Given the description of an element on the screen output the (x, y) to click on. 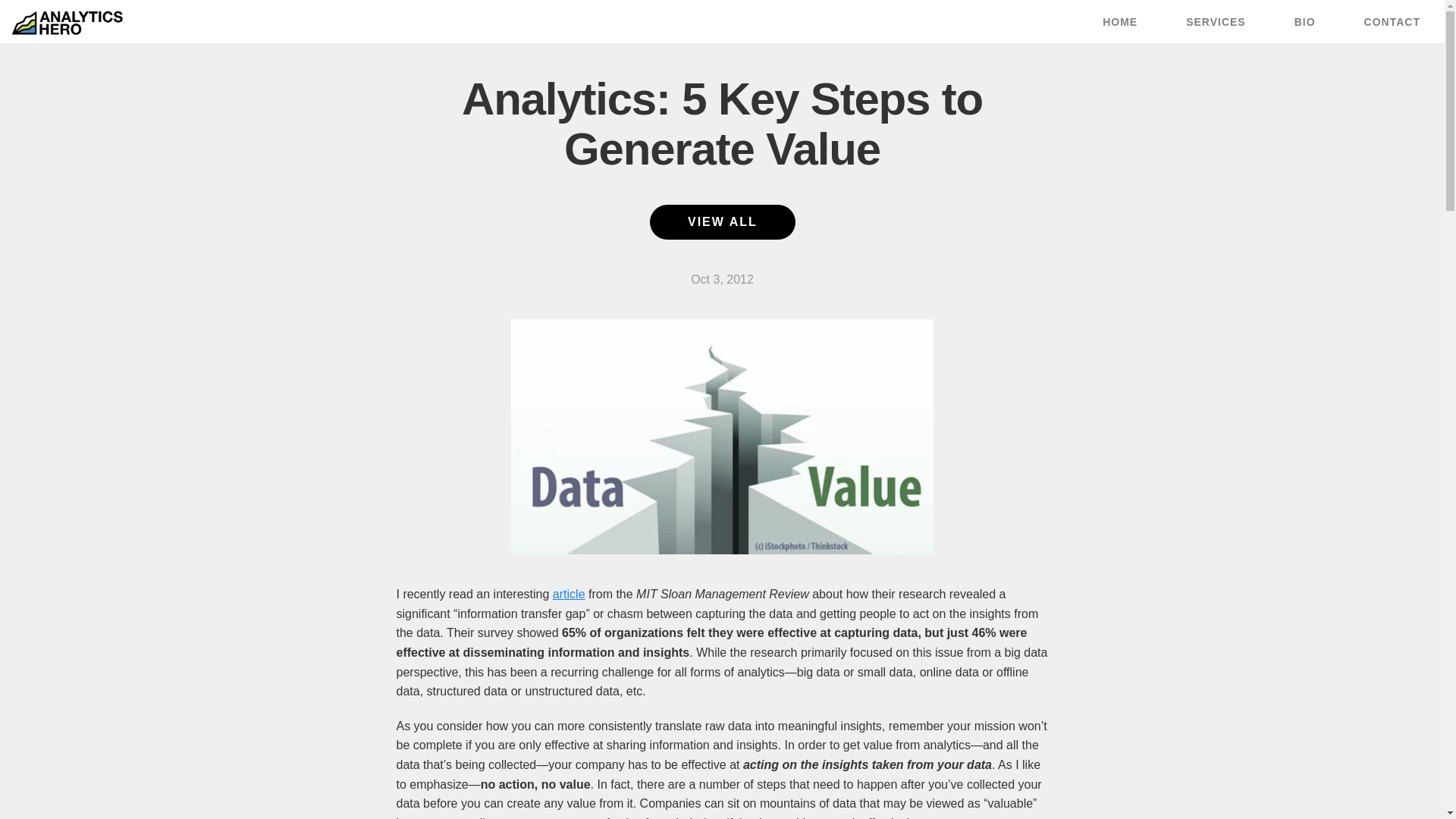
HOME (1119, 22)
BIO (1304, 22)
SERVICES (1215, 22)
VIEW ALL (721, 221)
article (569, 594)
